Given the description of an element on the screen output the (x, y) to click on. 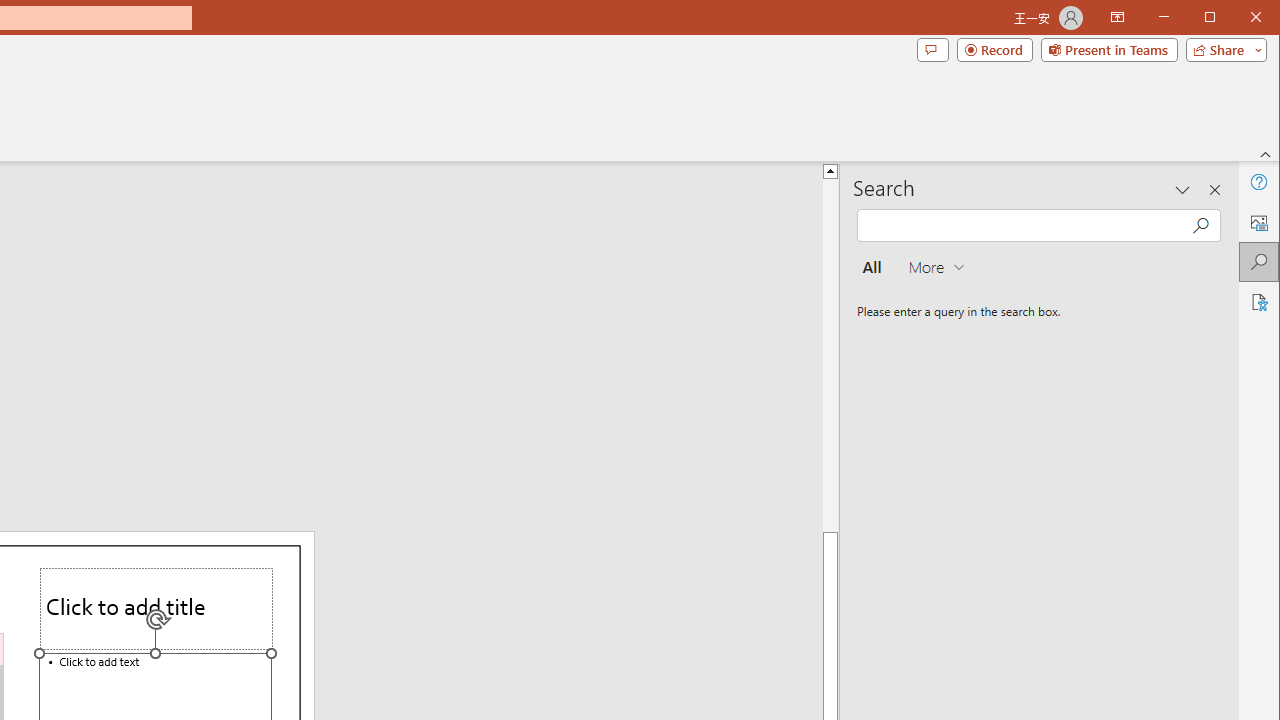
Maximize (1238, 18)
